Given the description of an element on the screen output the (x, y) to click on. 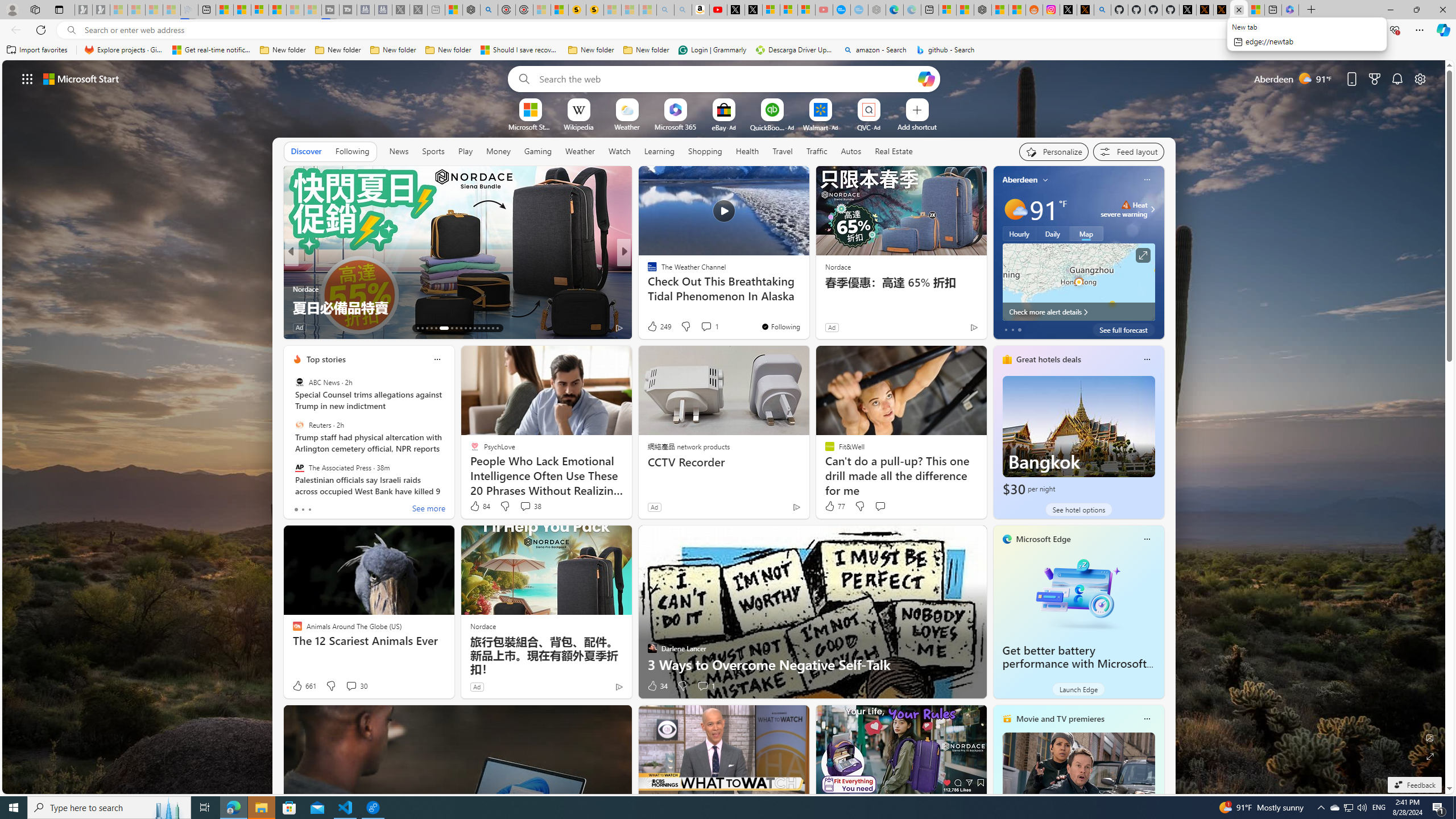
77 Like (834, 505)
News (398, 151)
Watch (619, 151)
Settings and more (Alt+F) (1419, 29)
Reuters (299, 424)
AutomationID: tab-23 (470, 328)
Microsoft rewards (1374, 78)
View comments 2 Comment (694, 327)
View comments 3 Comment (703, 327)
Start the conversation (879, 505)
Add this page to favorites (Ctrl+D) (1314, 29)
View comments 257 Comment (6, 327)
